Given the description of an element on the screen output the (x, y) to click on. 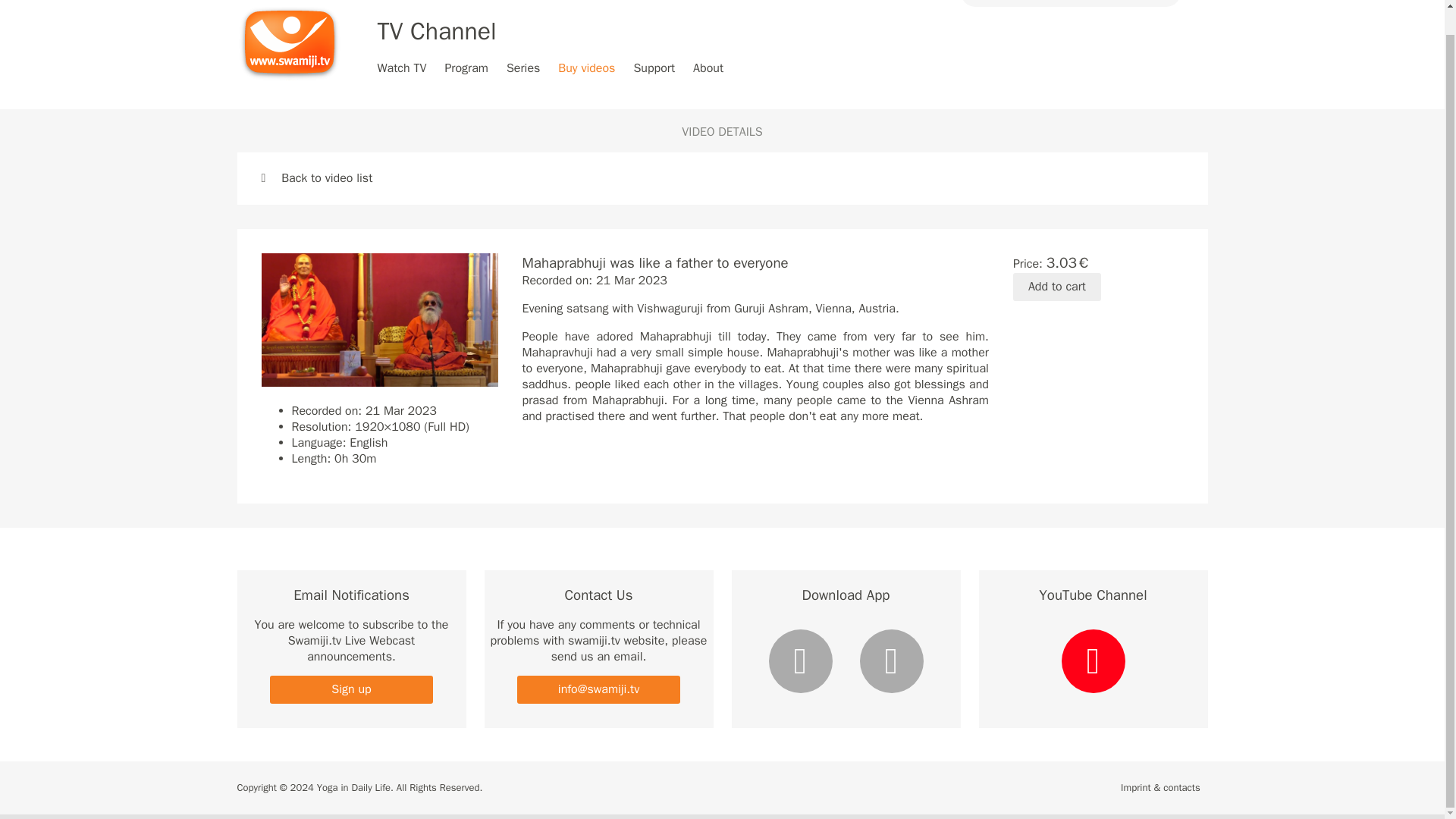
Series (523, 68)
Mahaprabhuji was like a father to everyone (378, 319)
Watch TV (401, 68)
About (708, 68)
Sign up (350, 689)
Support (654, 68)
Program (465, 68)
Back to video list (316, 177)
Add to cart (1056, 286)
Buy videos (585, 68)
